Given the description of an element on the screen output the (x, y) to click on. 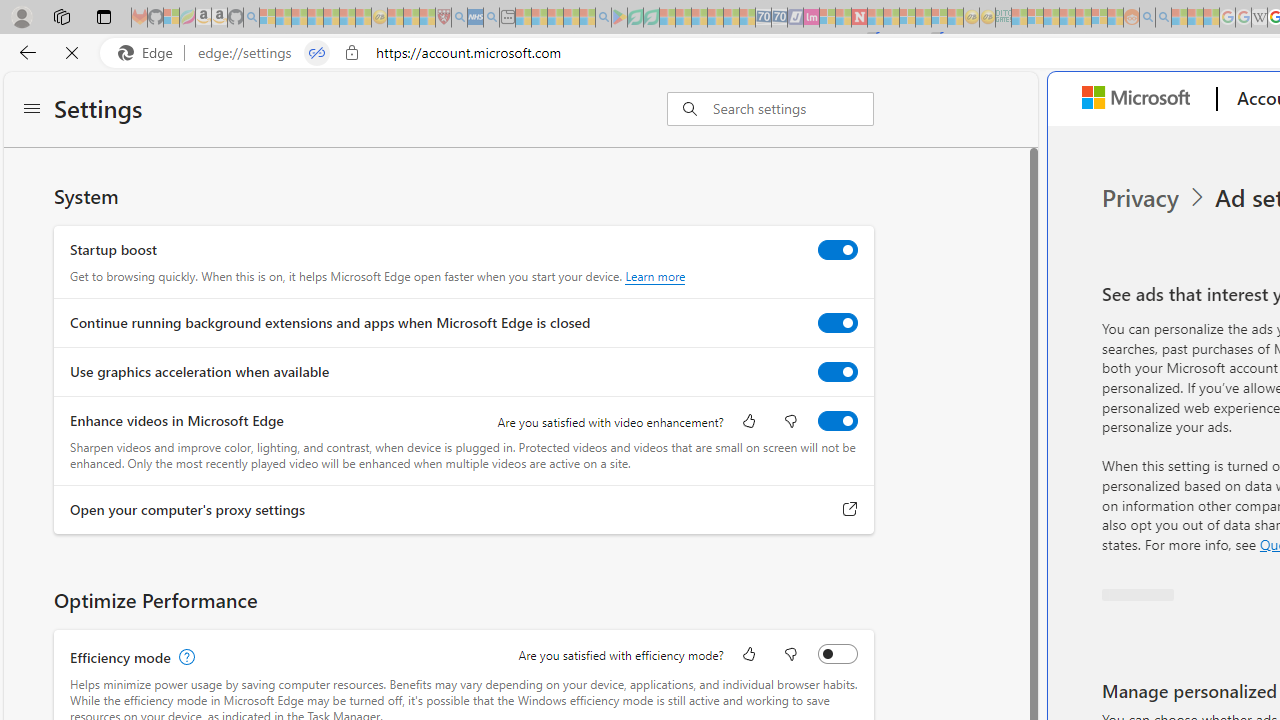
Use graphics acceleration when available (837, 372)
